Given the description of an element on the screen output the (x, y) to click on. 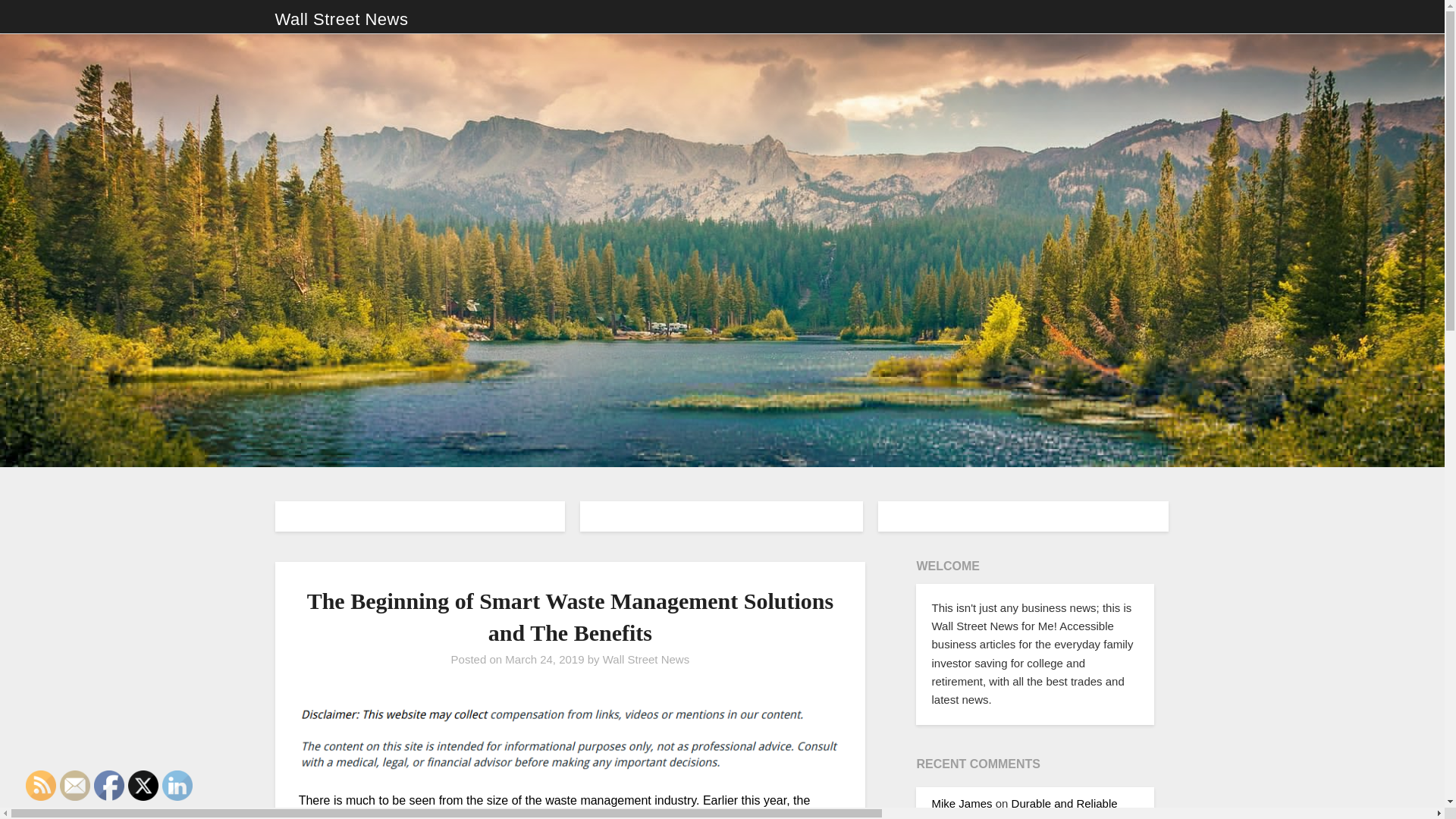
Wall Street News (645, 658)
Durable and Reliable Industrial Finishing Products (1023, 807)
Wall Street News (341, 19)
Follow by Email (74, 785)
RSS (41, 785)
Mike James (961, 802)
March 24, 2019 (544, 658)
Facebook (108, 785)
Twitter (143, 785)
